Given the description of an element on the screen output the (x, y) to click on. 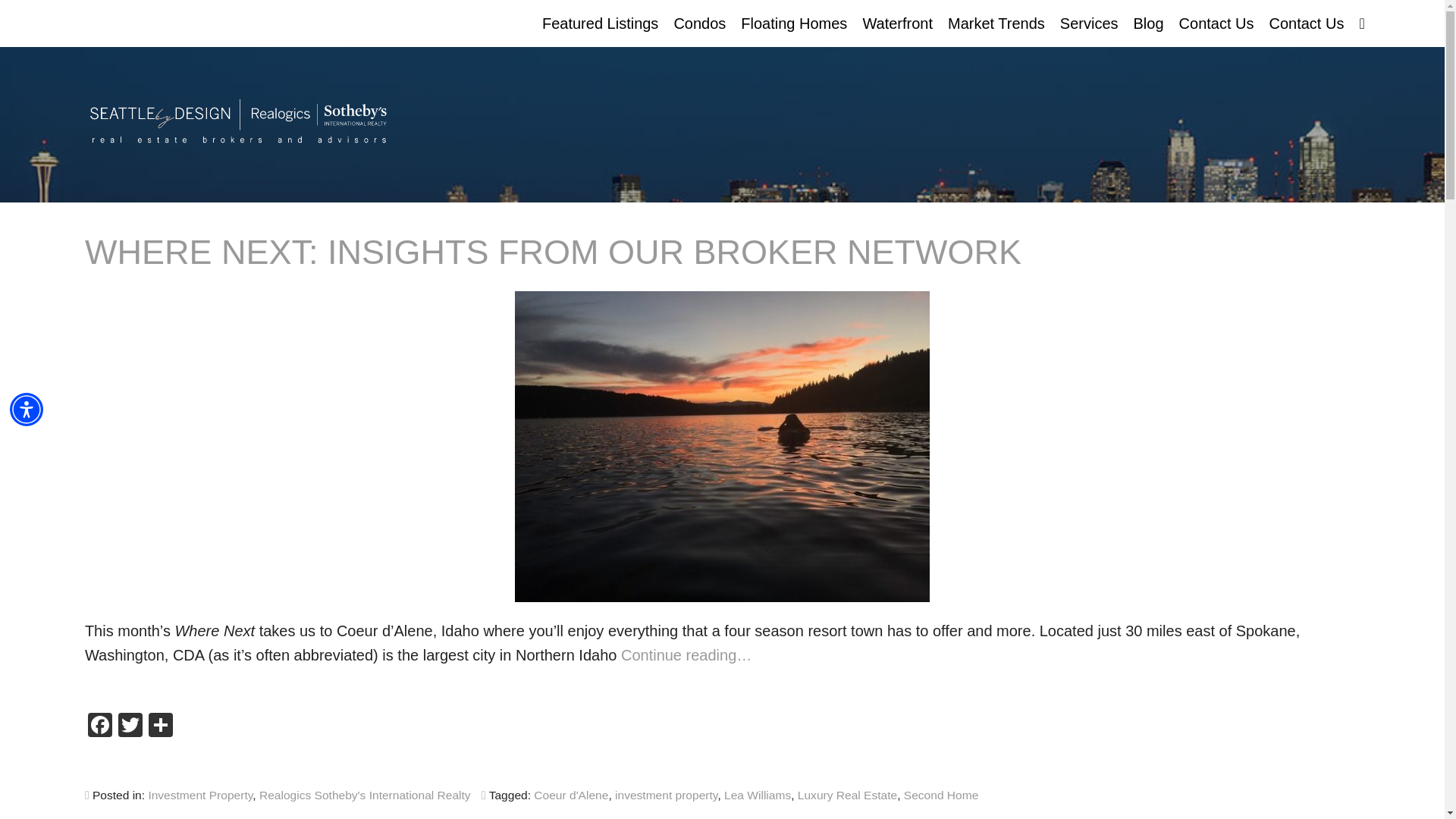
Kirkland Condominiums (699, 382)
Seattle Market Trends (996, 342)
Bellevue Market Trends (996, 66)
Condos in Queen Anne and Magnolia (699, 106)
Lake Sammamish Waterfront (897, 342)
Waterfront (897, 23)
South Puget Sound Waterfront (897, 382)
Condos in Kirkland (699, 382)
Condos in West Seattle including Alki, North Admiral (699, 263)
Waterfront Condominiums (699, 421)
Mercer Island Waterfront (897, 185)
Sammamish Market Trends (996, 303)
Queen Anne, Magnolia Condominiums (699, 106)
Floating Homes (793, 23)
